Given the description of an element on the screen output the (x, y) to click on. 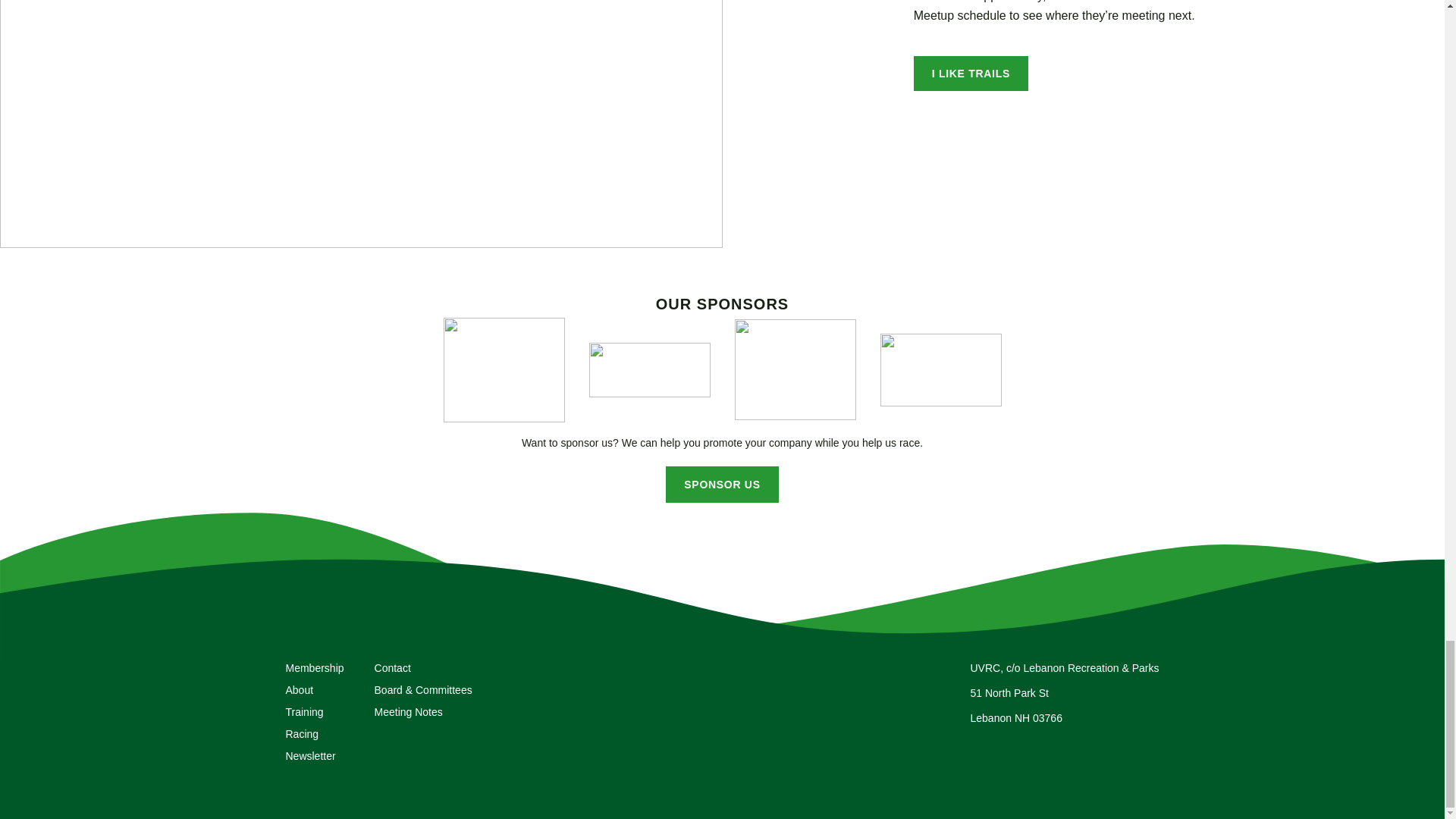
Newsletter (309, 756)
Training (304, 711)
Contact (392, 667)
SPONSOR US (721, 484)
Racing (301, 734)
I LIKE TRAILS (970, 73)
Meeting Notes (408, 711)
About (299, 689)
Membership (314, 667)
